Given the description of an element on the screen output the (x, y) to click on. 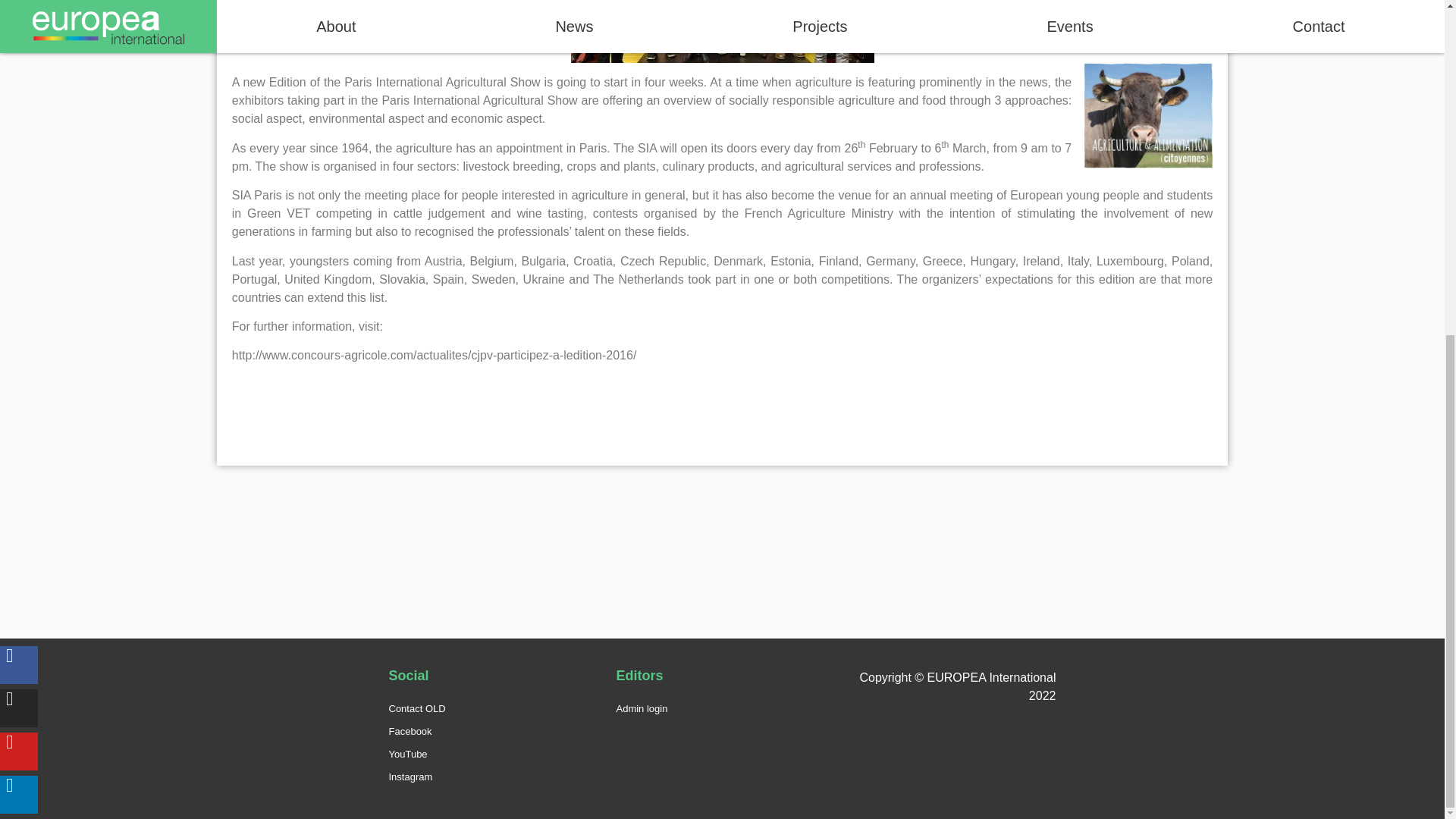
Admin login (721, 708)
YouTube (493, 753)
Facebook (493, 731)
Instagram (493, 776)
Contact OLD (493, 708)
